Given the description of an element on the screen output the (x, y) to click on. 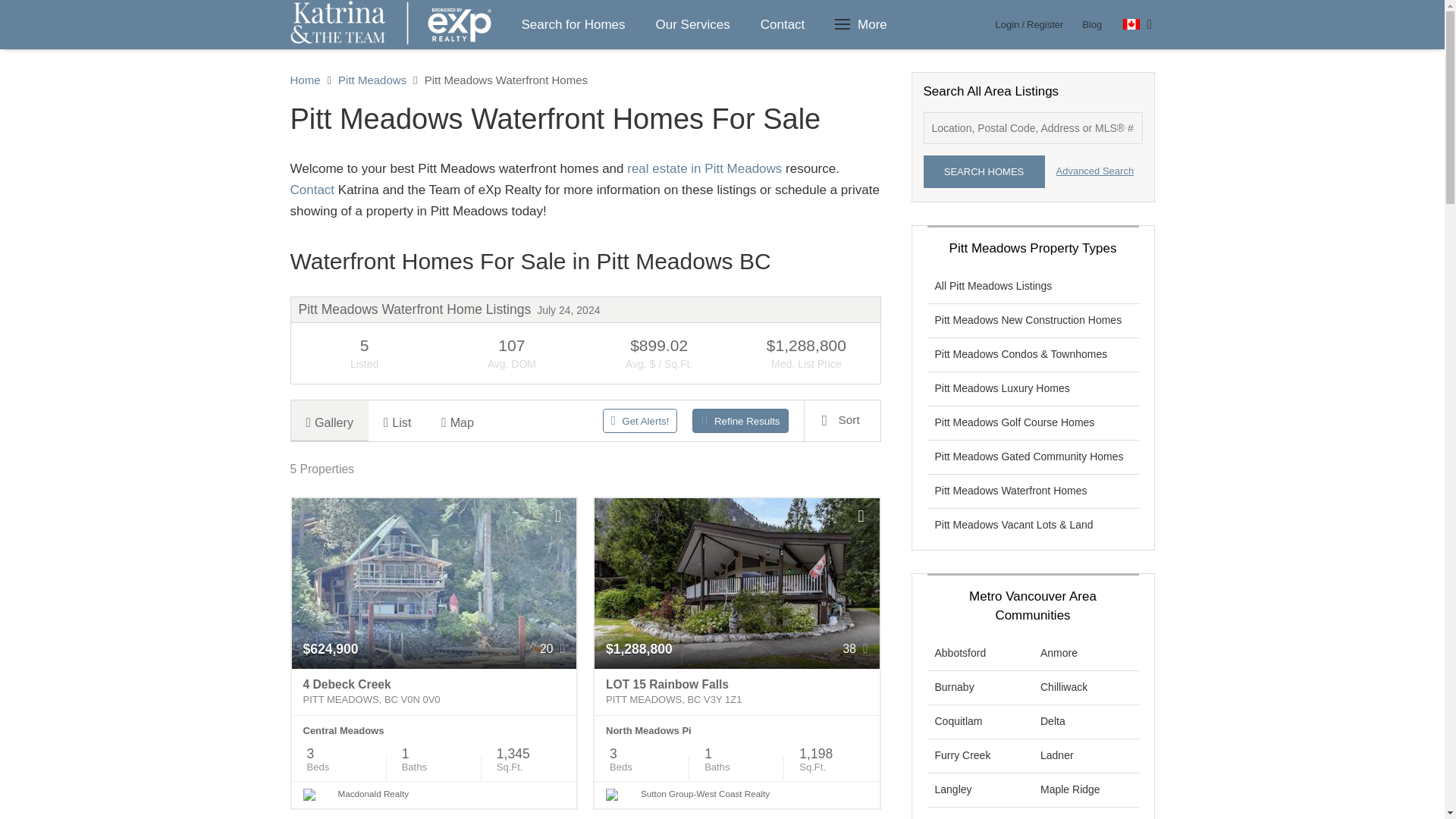
Search for Homes (573, 24)
Contact (783, 24)
Register (1044, 24)
Blog (1091, 24)
Our Services (692, 24)
LOT 15 Rainbow Falls Pitt Meadows,  BC V3Y 1Z1 (736, 692)
More (863, 24)
Select Language (1137, 24)
4 Debeck Creek Pitt Meadows,  BC V0N 0V0 (433, 692)
Waterfront Homes For Sale in Pitt Meadows BC (584, 260)
